Given the description of an element on the screen output the (x, y) to click on. 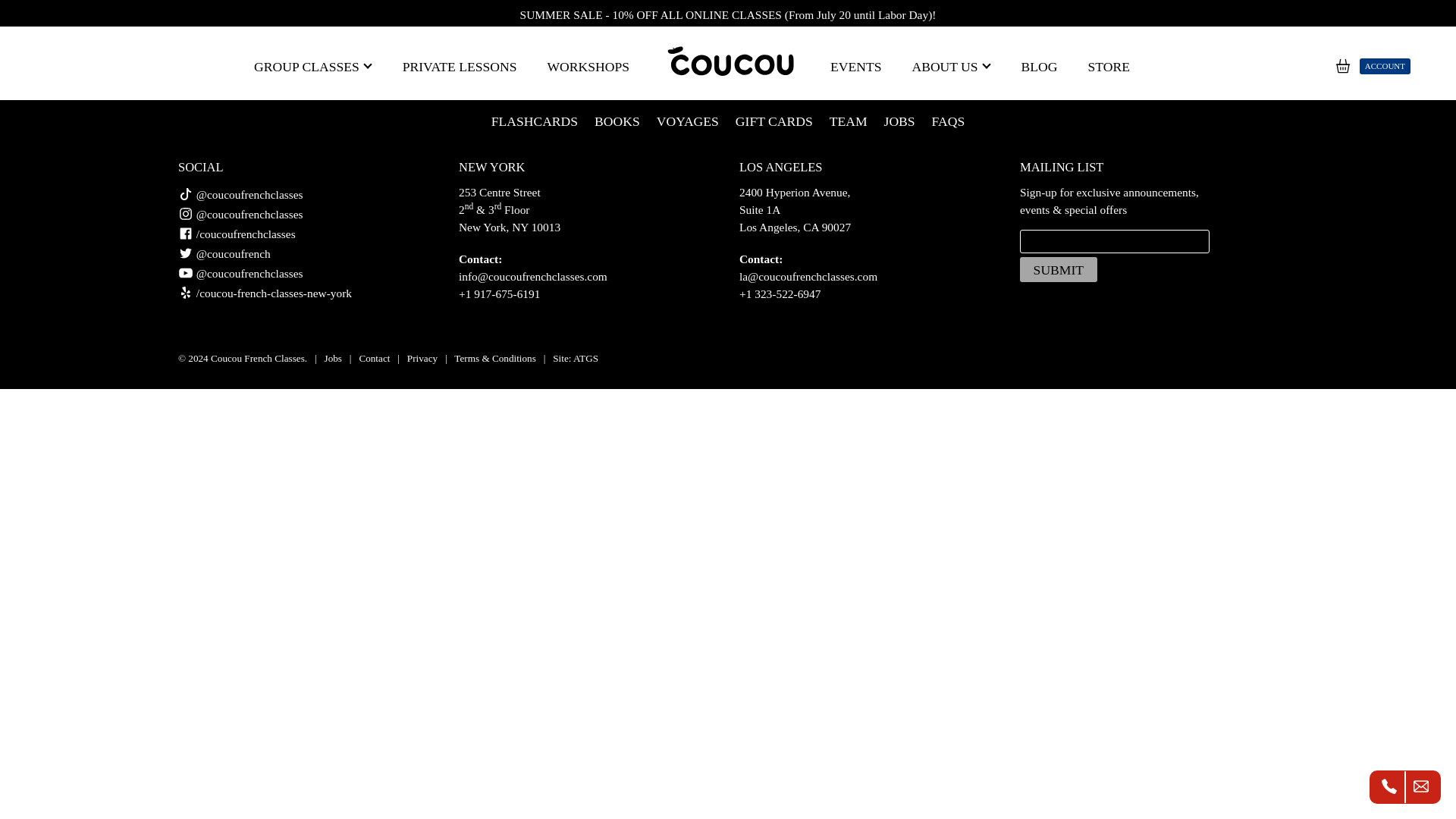
ABOUT US (950, 66)
FAQS (948, 120)
STORE (1108, 66)
GIFT CARDS (773, 120)
NEW YORK (491, 166)
VOYAGES (687, 120)
JOBS (899, 120)
TEAM (848, 120)
PRIVATE LESSONS (459, 66)
FLASHCARDS (535, 120)
GROUP CLASSES (313, 66)
Little Paris Olympics Opening Ceremony event (739, 31)
ACCOUNT (1384, 66)
WORKSHOPS (587, 66)
EVENTS (855, 66)
